Given the description of an element on the screen output the (x, y) to click on. 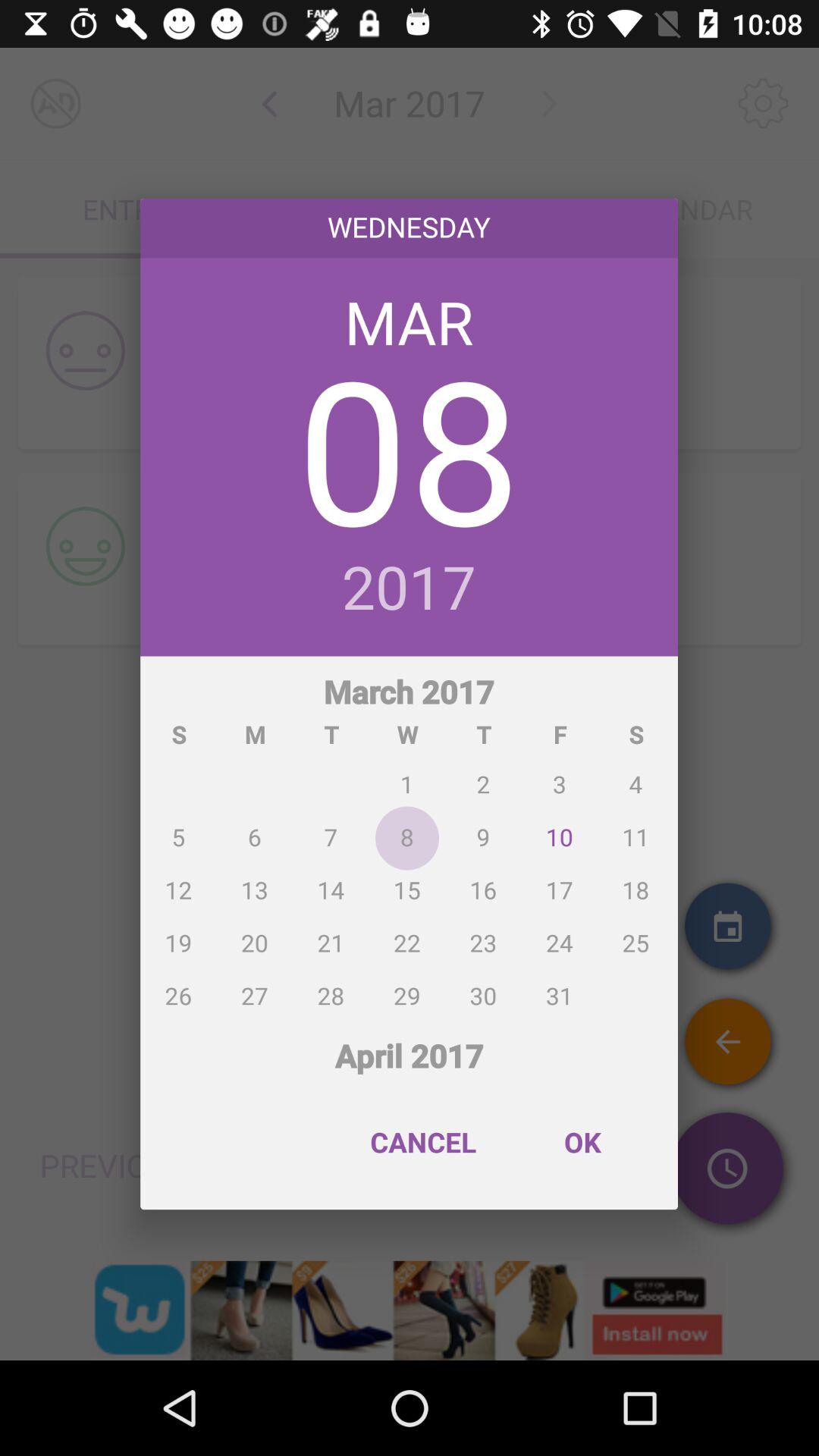
tap the ok icon (582, 1141)
